Given the description of an element on the screen output the (x, y) to click on. 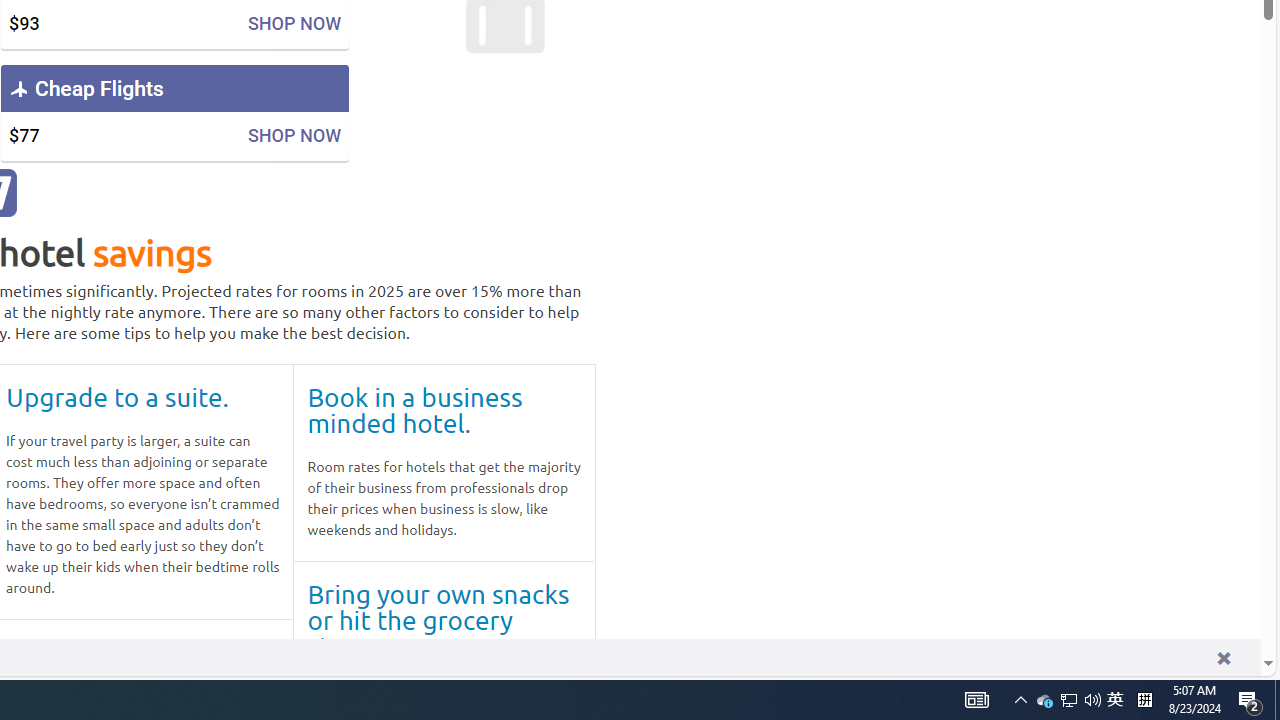
dismiss cookie message (1223, 657)
Cheap Flights $77 SHOP NOW (174, 112)
